Given the description of an element on the screen output the (x, y) to click on. 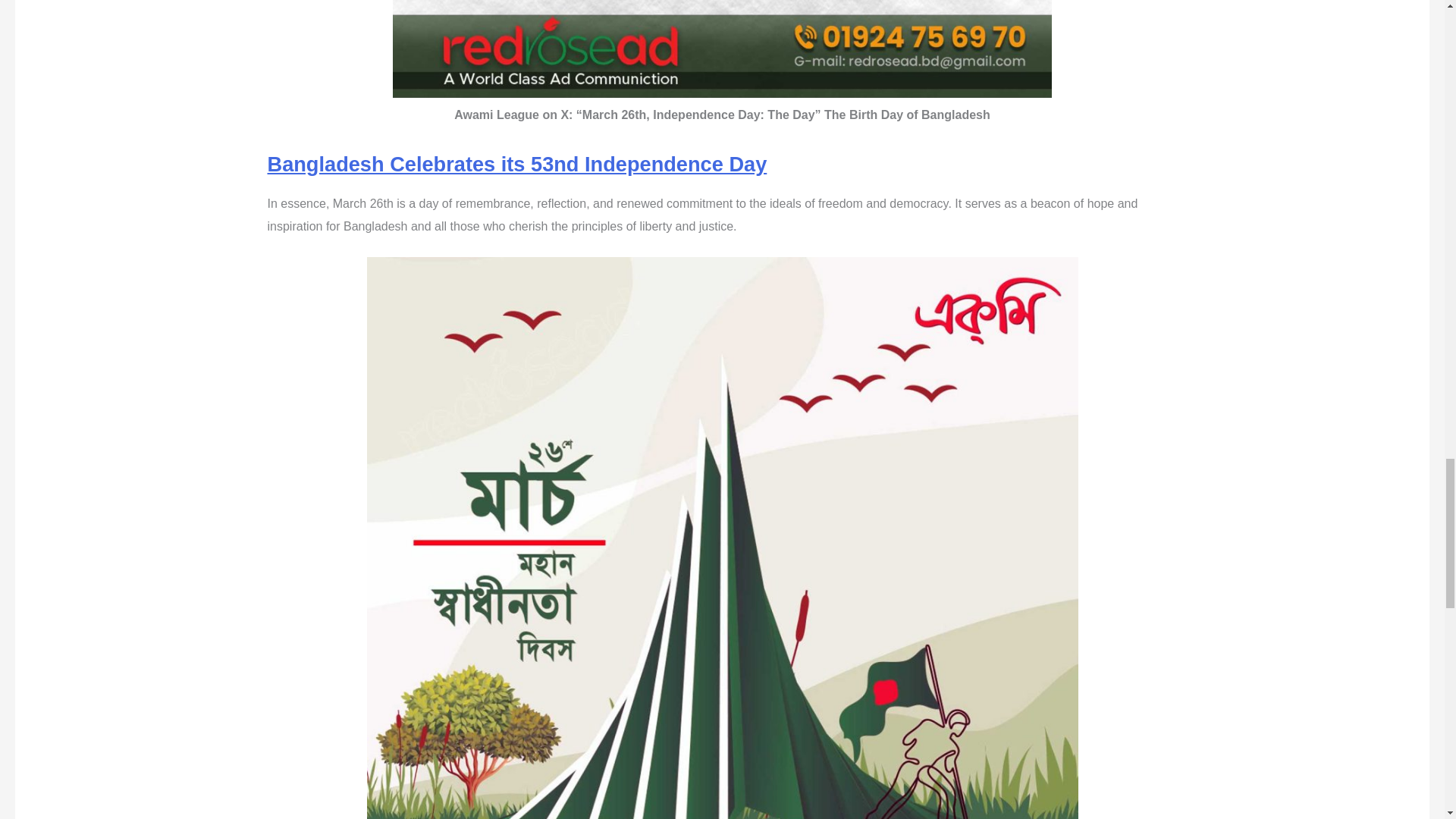
Bangladesh Celebrates its 53nd Independence Day (516, 164)
